Given the description of an element on the screen output the (x, y) to click on. 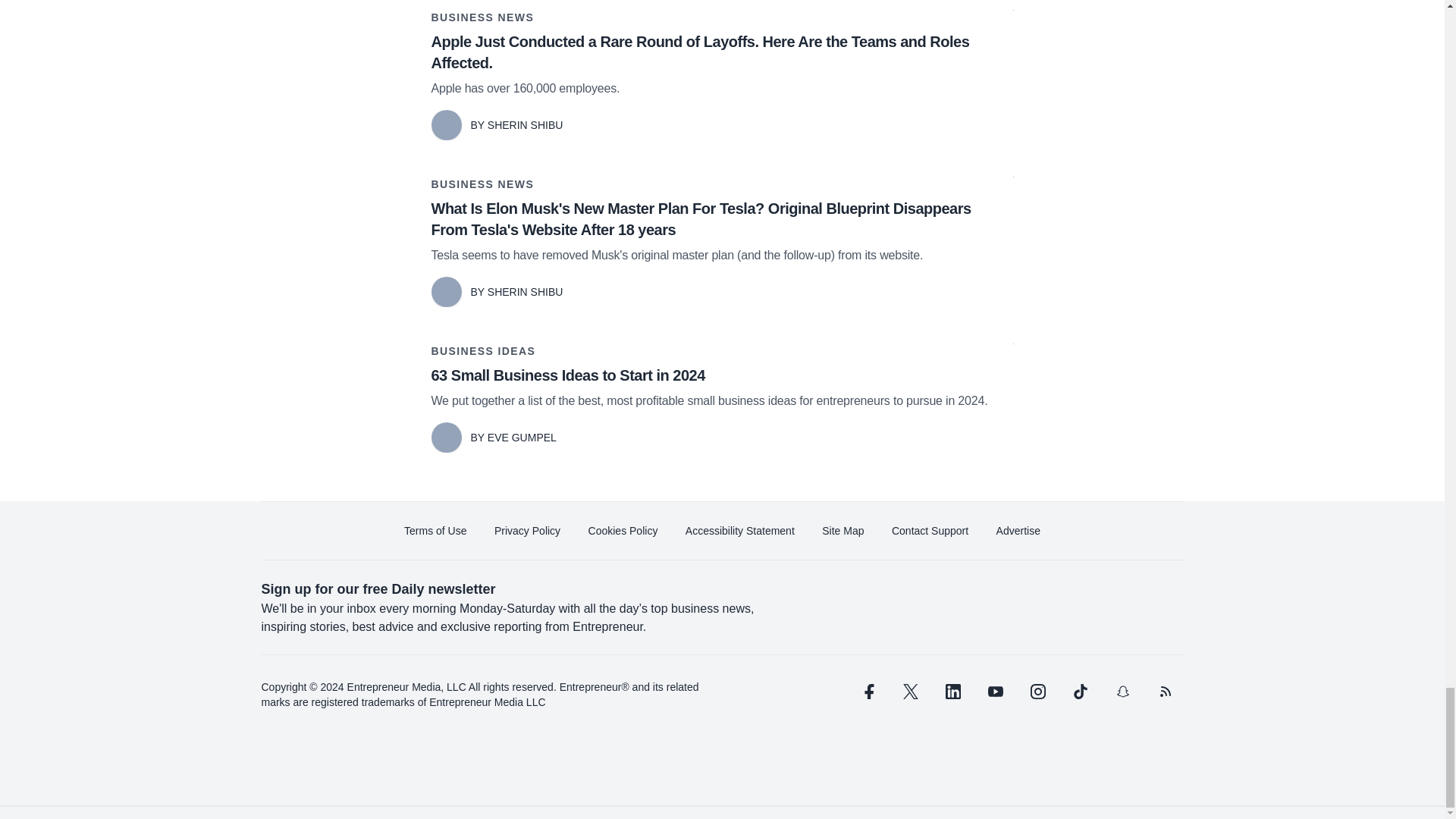
facebook (866, 691)
tiktok (1079, 691)
youtube (994, 691)
linkedin (952, 691)
instagram (1037, 691)
twitter (909, 691)
snapchat (1121, 691)
